Given the description of an element on the screen output the (x, y) to click on. 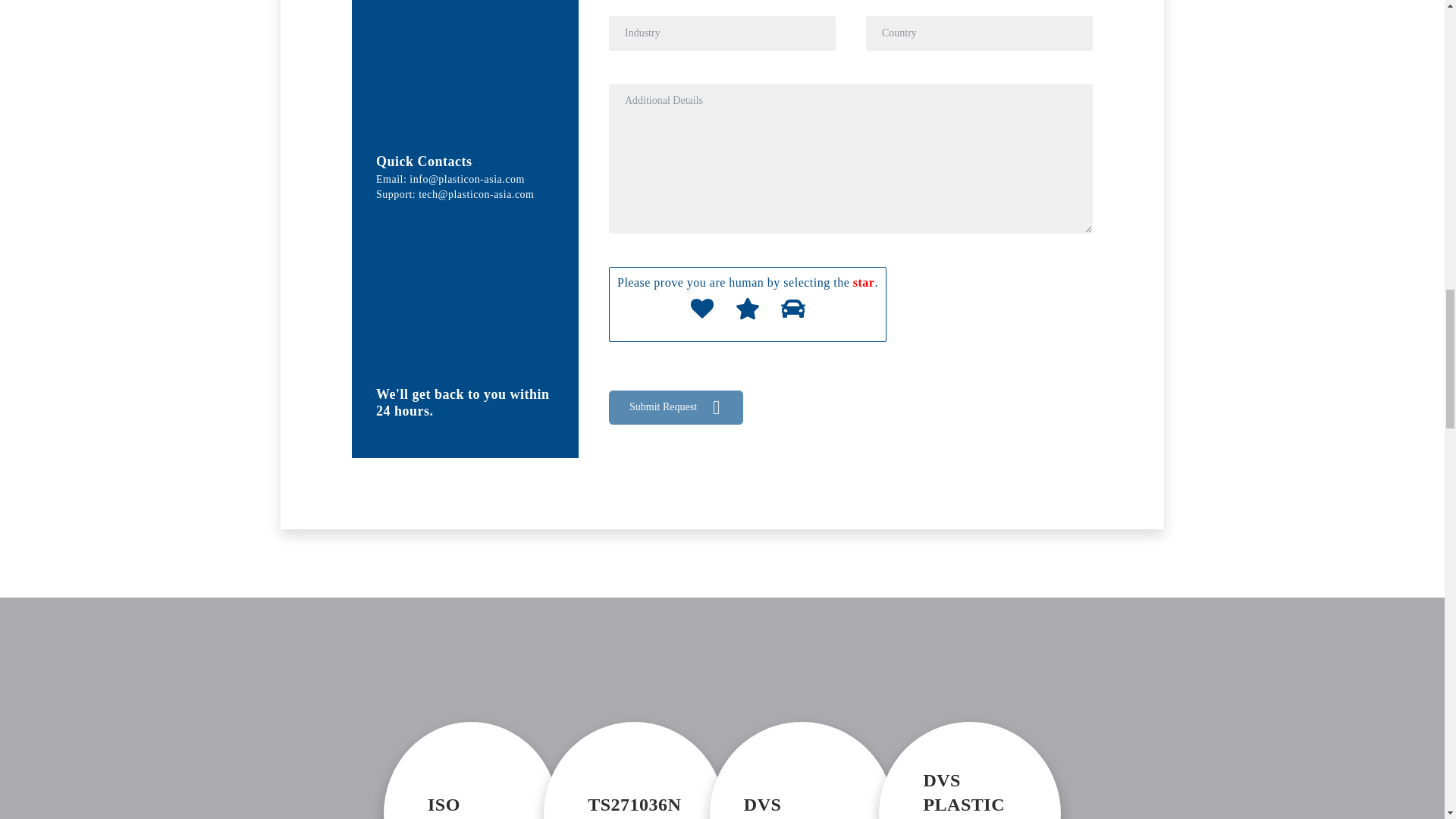
Submit Request (662, 407)
Submit Request (662, 407)
